Given the description of an element on the screen output the (x, y) to click on. 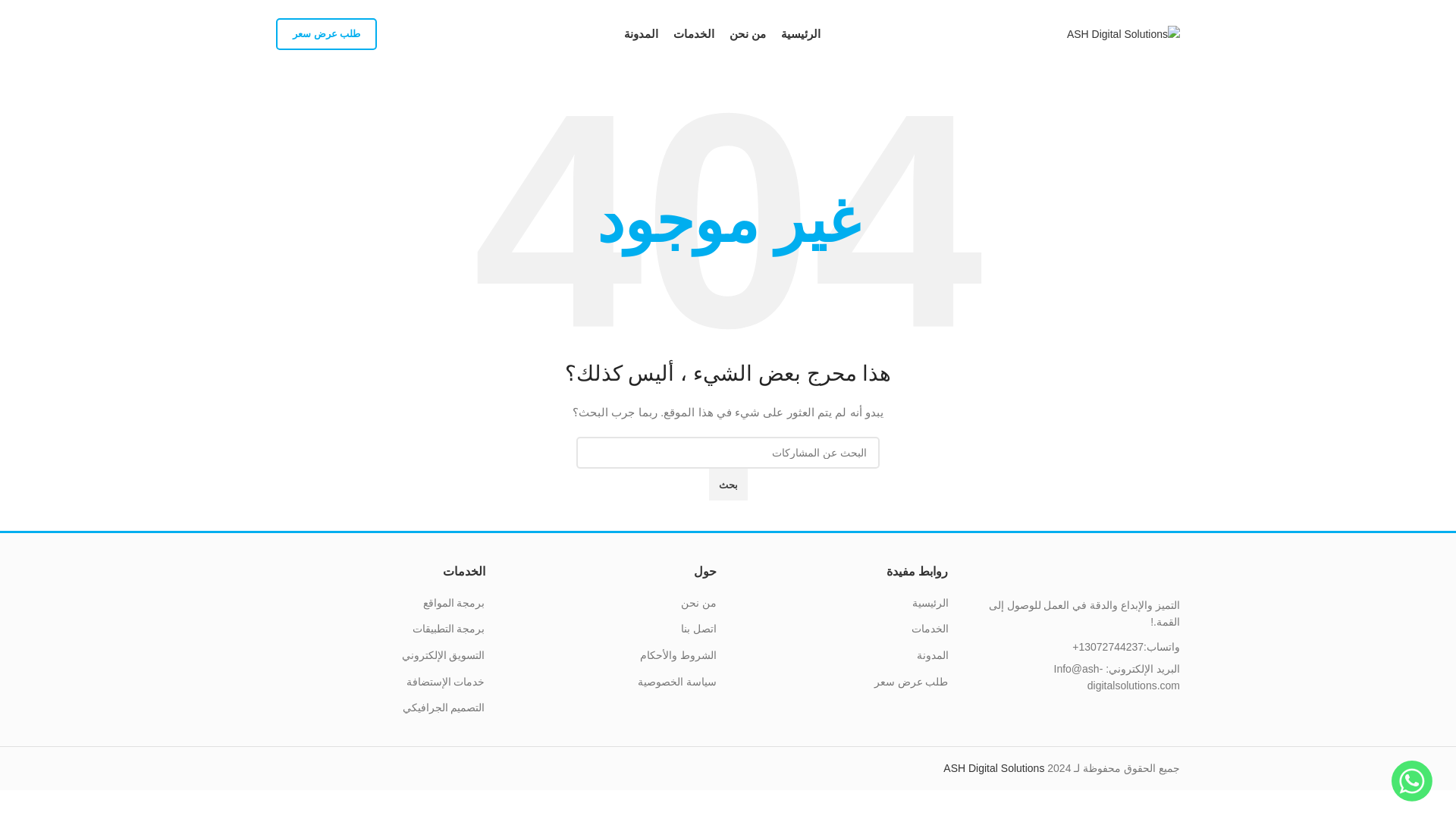
ASH Digital Solutions (993, 767)
